Given the description of an element on the screen output the (x, y) to click on. 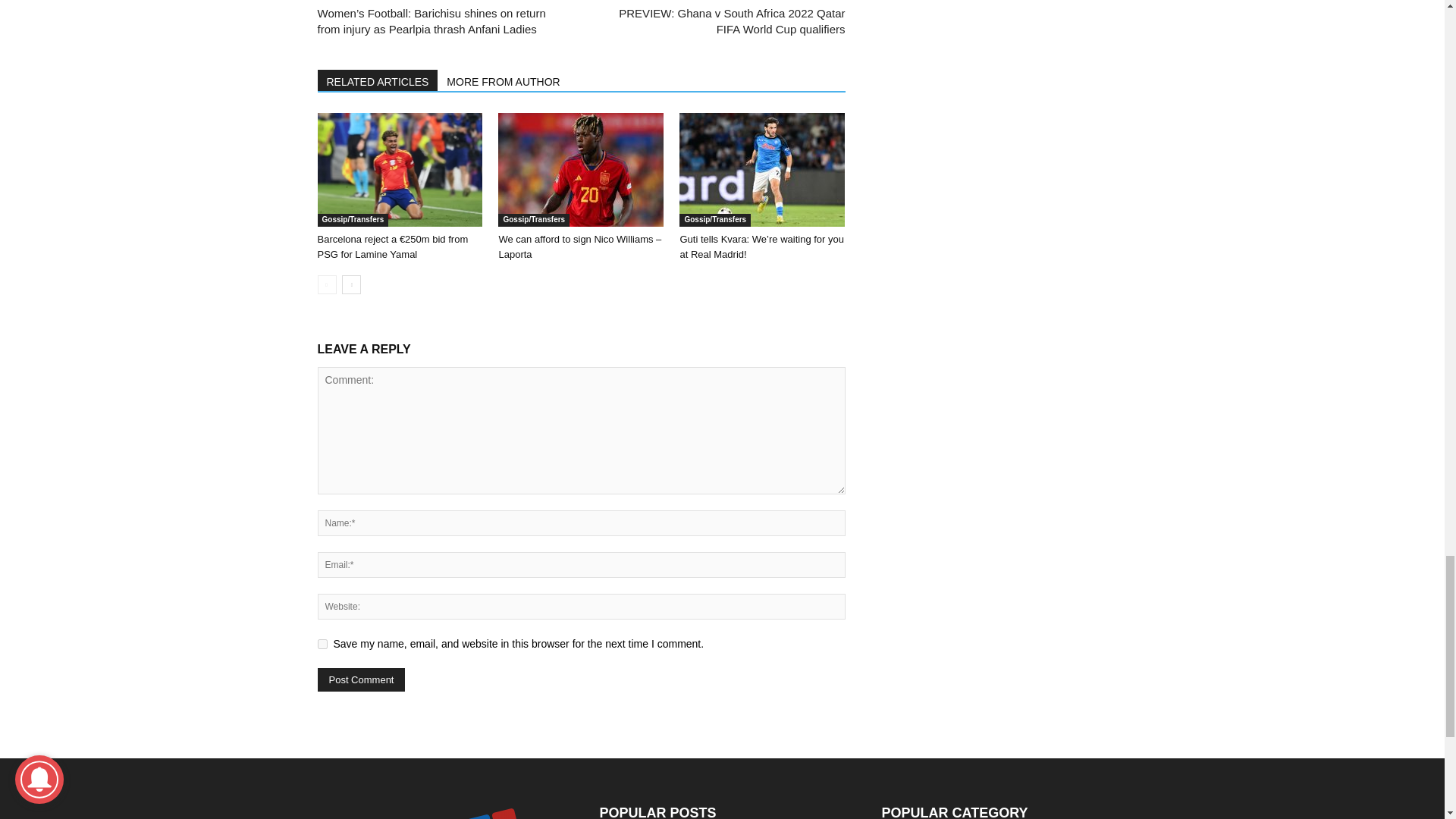
Post Comment (360, 679)
yes (321, 644)
